Given the description of an element on the screen output the (x, y) to click on. 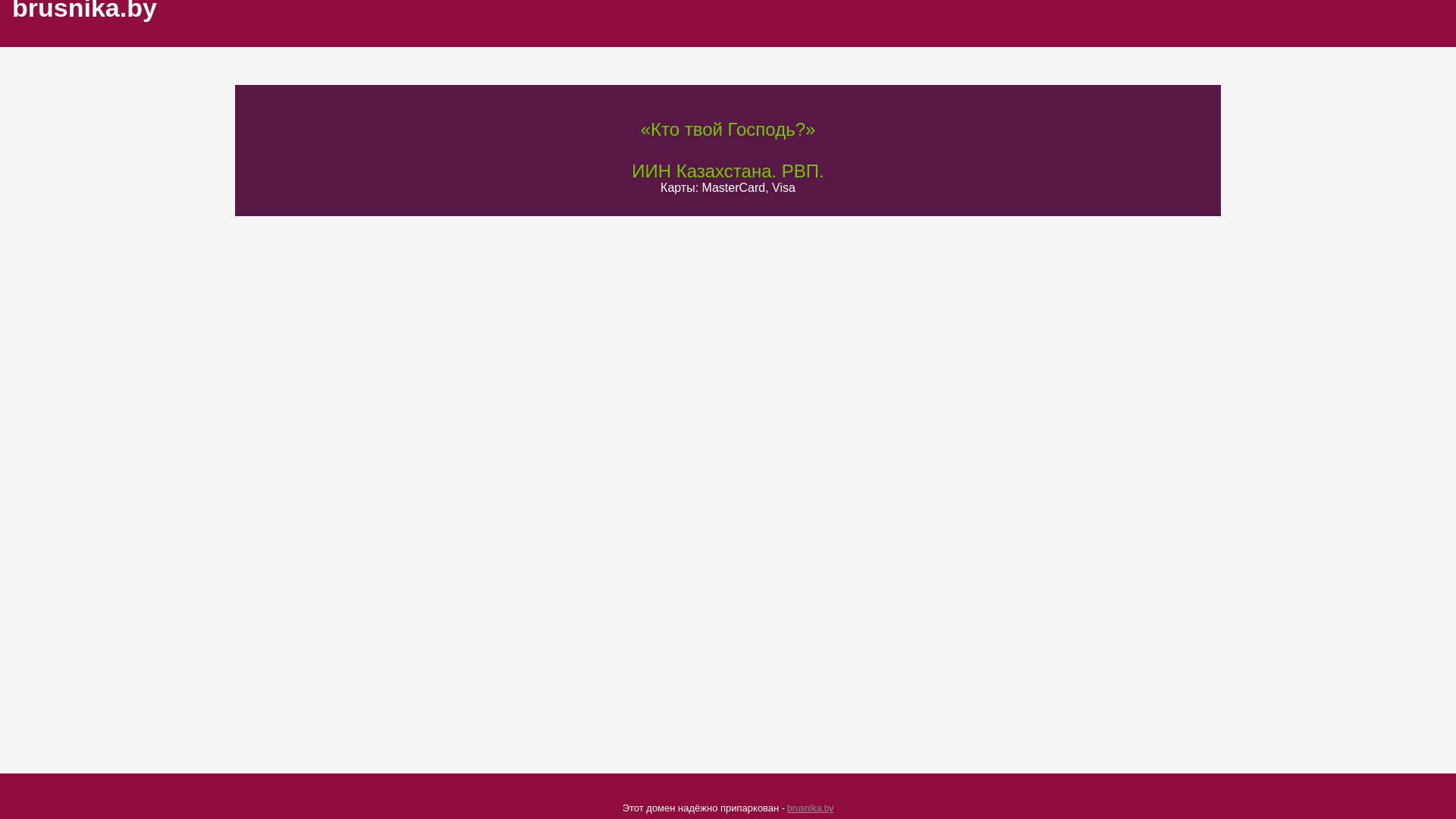
brusnika.by Element type: text (810, 808)
